Given the description of an element on the screen output the (x, y) to click on. 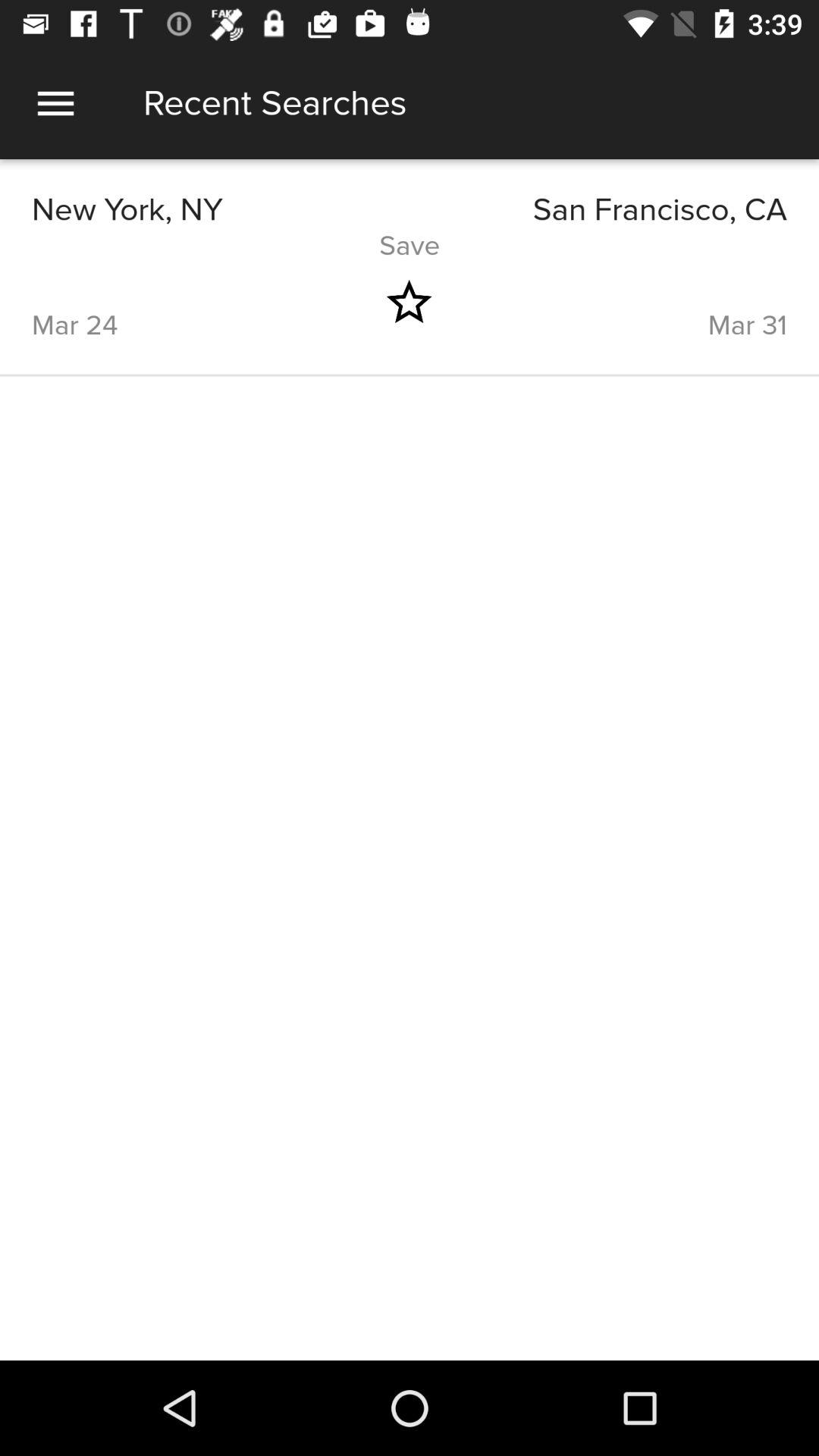
scroll to the san francisco, ca (598, 210)
